Given the description of an element on the screen output the (x, y) to click on. 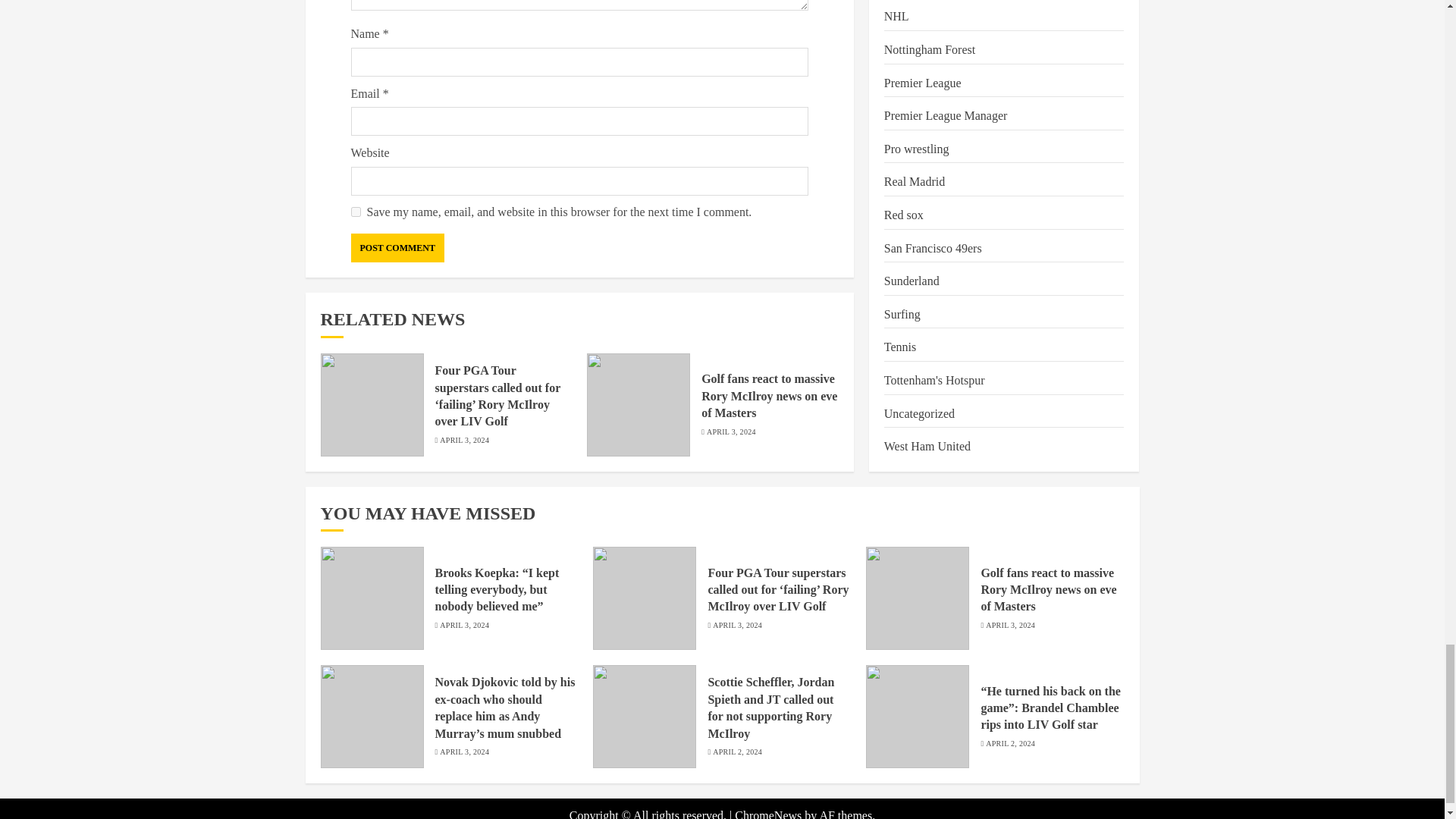
yes (354, 212)
Post Comment (397, 247)
Post Comment (397, 247)
APRIL 3, 2024 (464, 439)
APRIL 3, 2024 (730, 431)
